Given the description of an element on the screen output the (x, y) to click on. 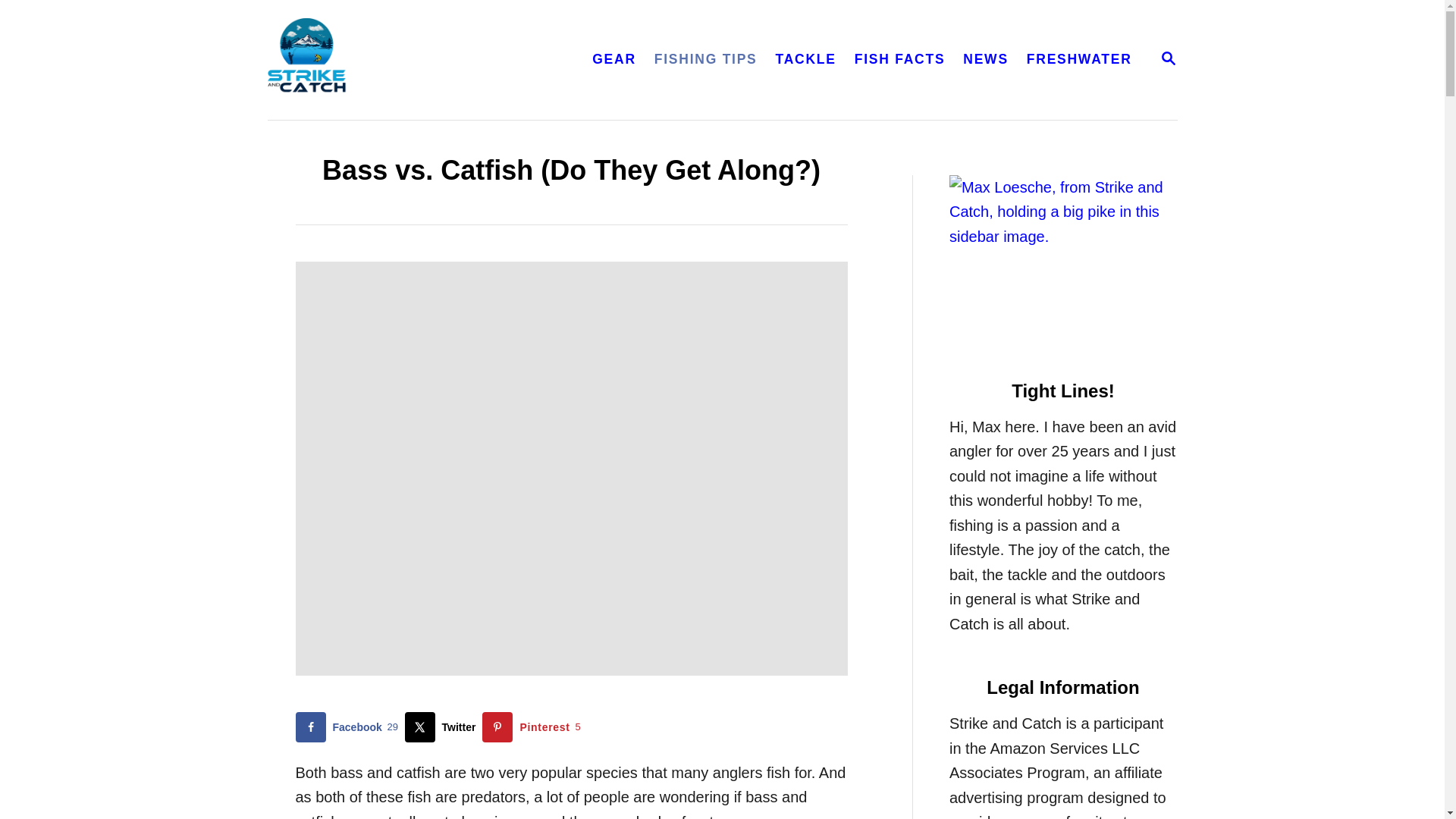
Share on X (443, 726)
NEWS (533, 726)
Twitter (985, 59)
Share on Facebook (443, 726)
FISHING TIPS (349, 726)
TACKLE (349, 726)
FISH FACTS (706, 59)
